Given the description of an element on the screen output the (x, y) to click on. 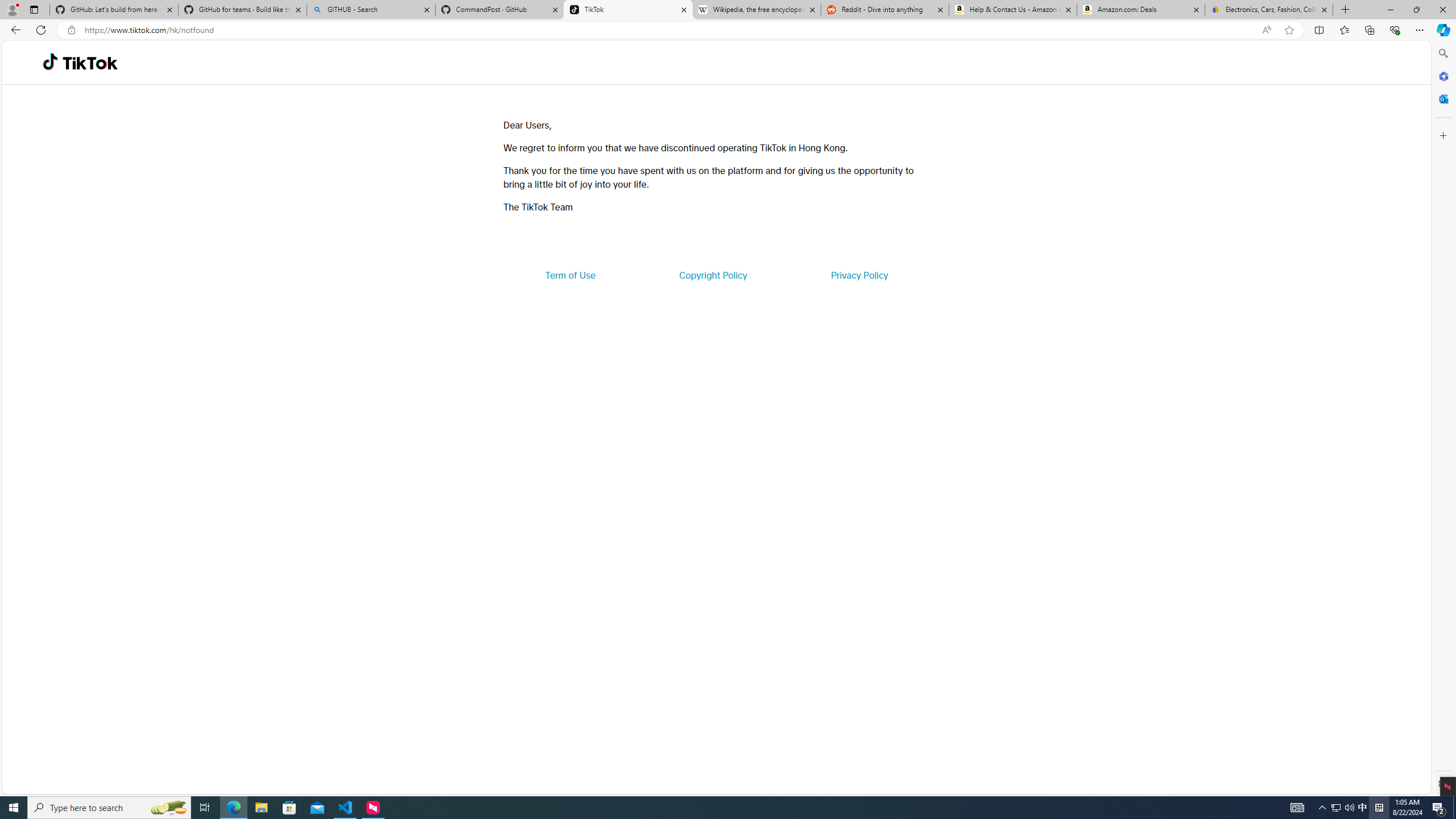
Wikipedia, the free encyclopedia (756, 9)
Term of Use (569, 274)
Amazon.com: Deals (1140, 9)
